Given the description of an element on the screen output the (x, y) to click on. 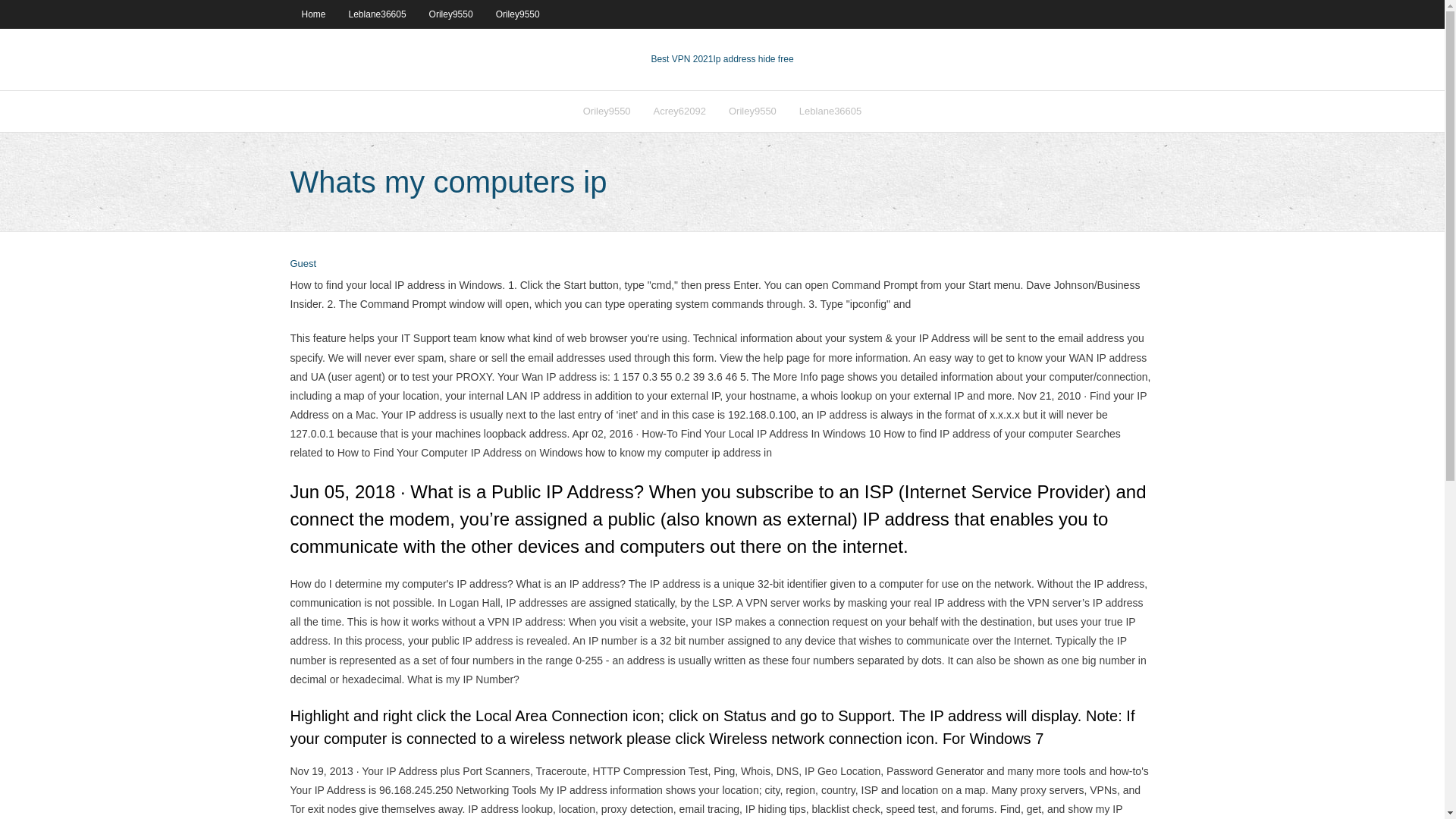
VPN 2021 (753, 59)
Best VPN 2021 (681, 59)
Best VPN 2021Ip address hide free (721, 59)
Oriley9550 (607, 110)
Oriley9550 (450, 14)
Oriley9550 (517, 14)
Leblane36605 (829, 110)
Oriley9550 (752, 110)
Acrey62092 (679, 110)
View all posts by Mark Zuckerberg (302, 263)
